Given the description of an element on the screen output the (x, y) to click on. 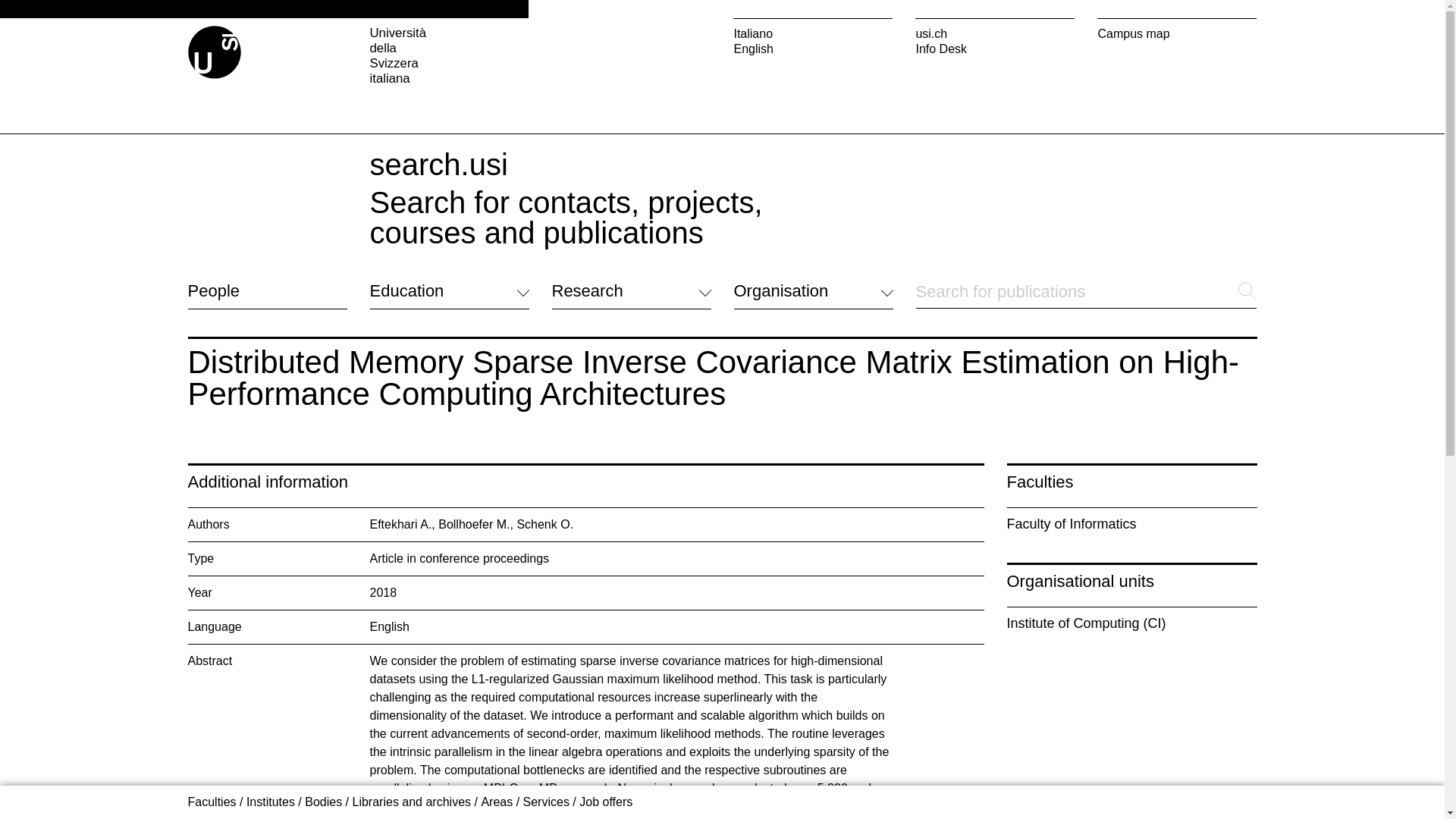
Mendrisio Campus (601, 660)
usi.ch (994, 33)
Bellinzona Campus (603, 678)
Italiano (812, 33)
Annual Report (771, 686)
Newsletter (761, 667)
Info Desk (994, 48)
Disclaimer (579, 760)
Subscribe (760, 704)
Eftekhari A. (400, 523)
